Given the description of an element on the screen output the (x, y) to click on. 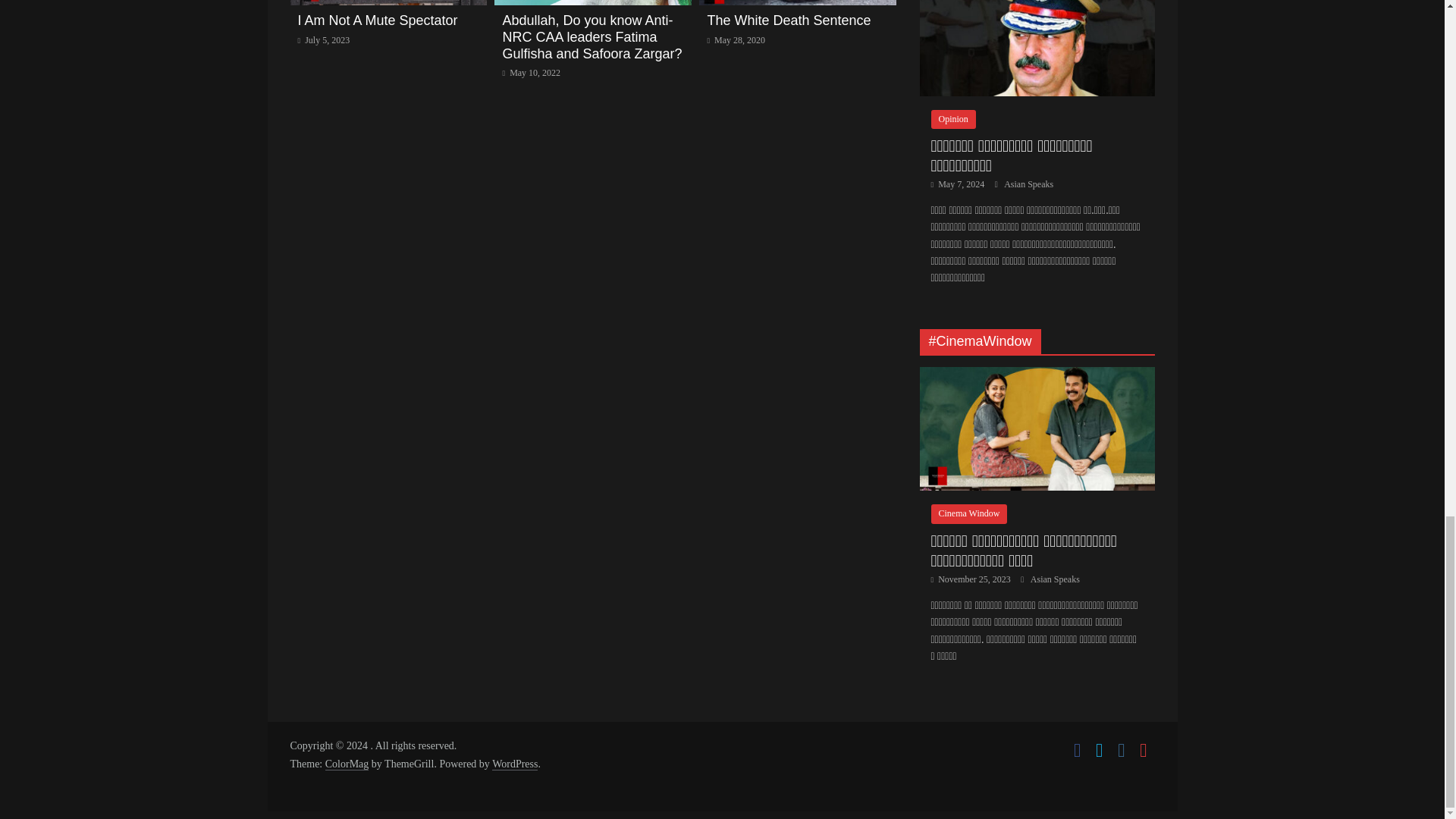
July 5, 2023 (323, 40)
The White Death Sentence (788, 20)
6:57 am (531, 72)
I Am Not A Mute Spectator (377, 20)
I Am Not A Mute Spectator (377, 20)
May 10, 2022 (531, 72)
12:06 pm (323, 40)
4:30 pm (735, 40)
